Given the description of an element on the screen output the (x, y) to click on. 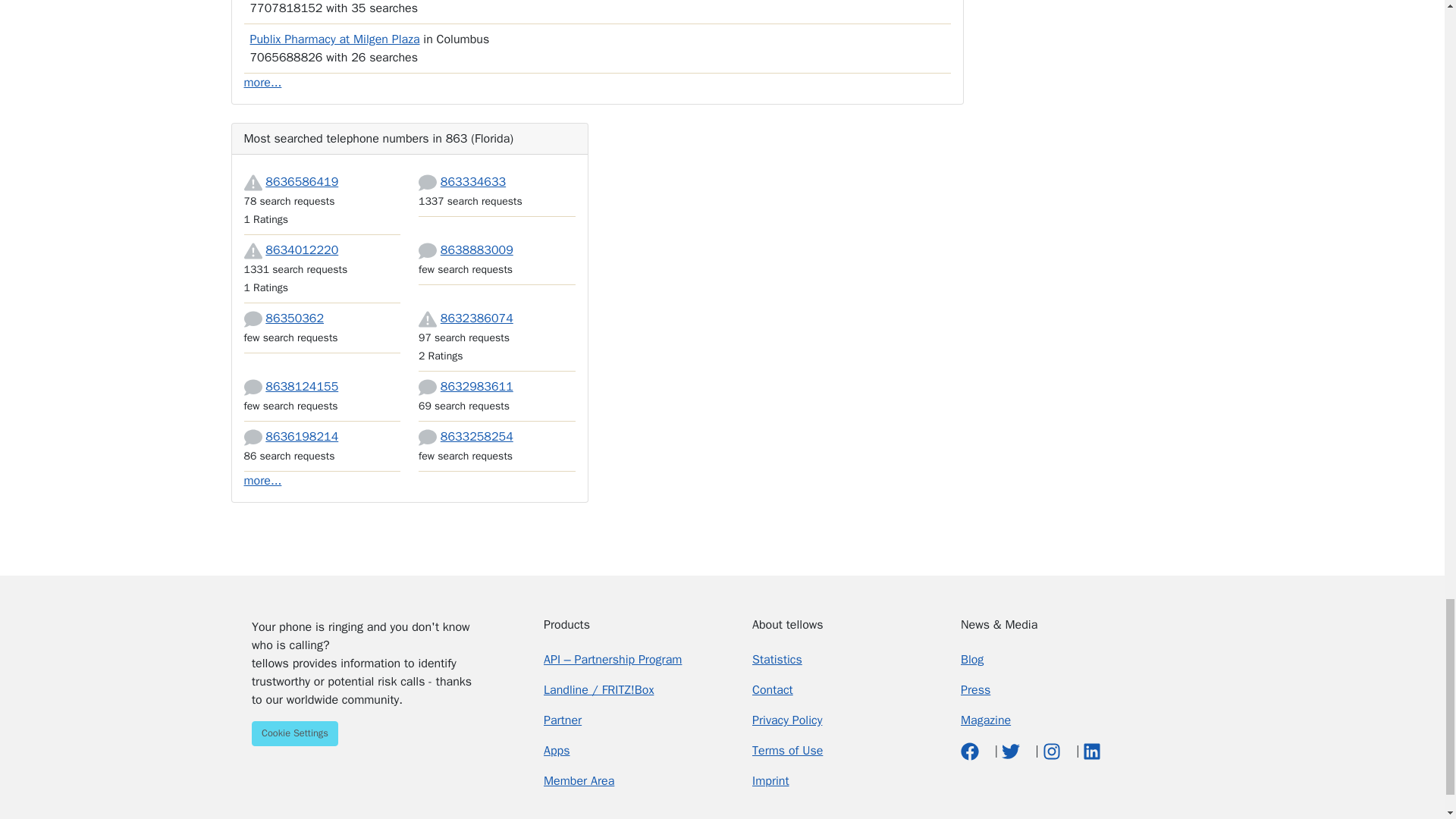
Instagram (1053, 750)
Facebook (971, 750)
LinkedIn (1091, 750)
Blog (972, 659)
Magazin (985, 720)
Presse (975, 689)
twitter (1012, 750)
